Given the description of an element on the screen output the (x, y) to click on. 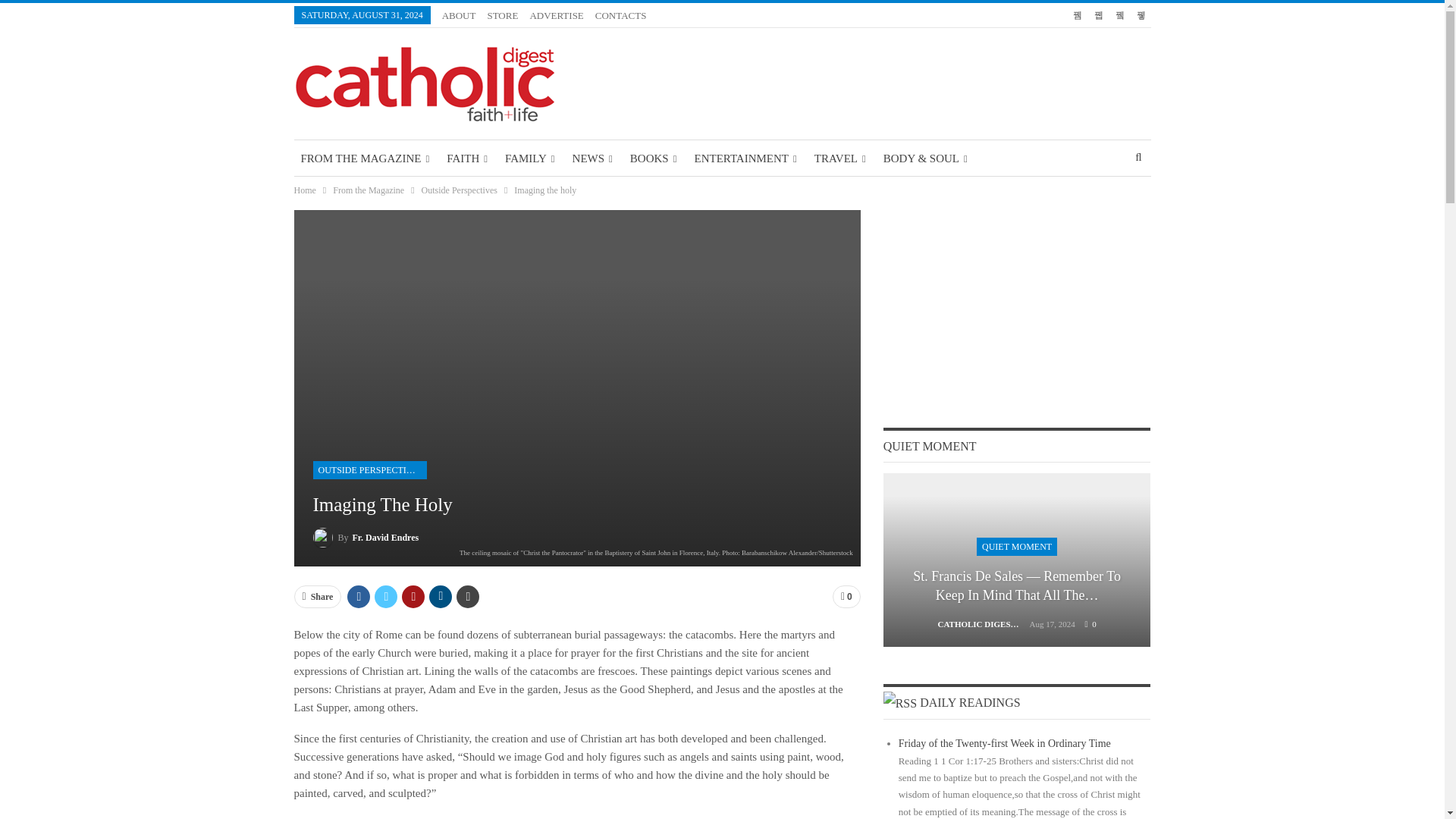
ABOUT (459, 15)
CONTACTS (620, 15)
Browse Author Articles (366, 537)
Browse Author Articles (983, 624)
FAITH (467, 158)
FROM THE MAGAZINE (365, 158)
ADVERTISE (556, 15)
STORE (502, 15)
FAMILY (529, 158)
